Given the description of an element on the screen output the (x, y) to click on. 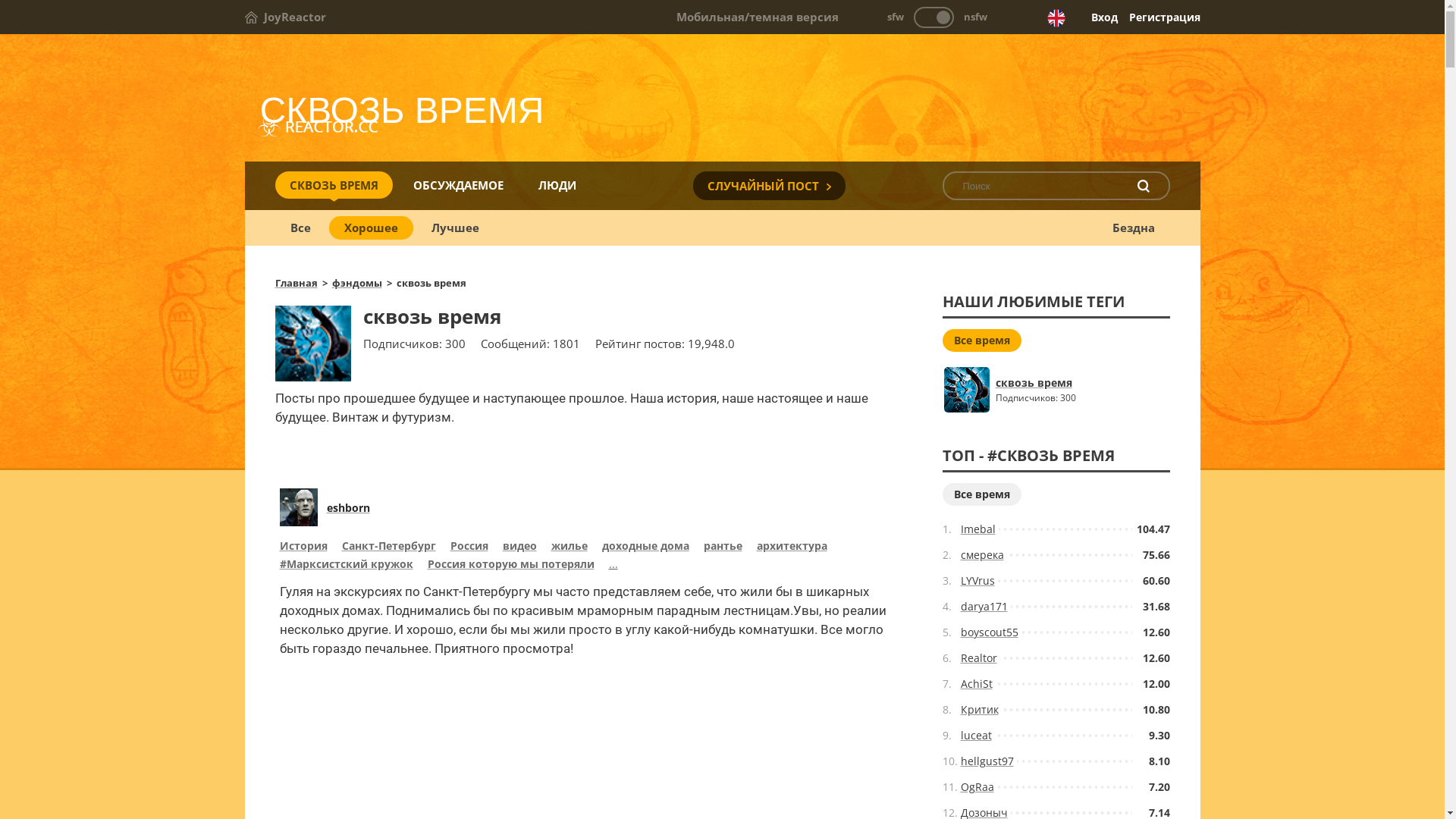
AchiSt Element type: text (975, 683)
LYVrus Element type: text (977, 580)
hellgust97 Element type: text (986, 761)
OgRaa Element type: text (976, 787)
English version Element type: hover (1055, 18)
Realtor Element type: text (978, 658)
luceat Element type: text (975, 735)
Imebal Element type: text (977, 529)
darya171 Element type: text (983, 606)
boyscout55 Element type: text (988, 632)
JoyReactor Element type: text (284, 17)
eshborn Element type: text (347, 507)
